Given the description of an element on the screen output the (x, y) to click on. 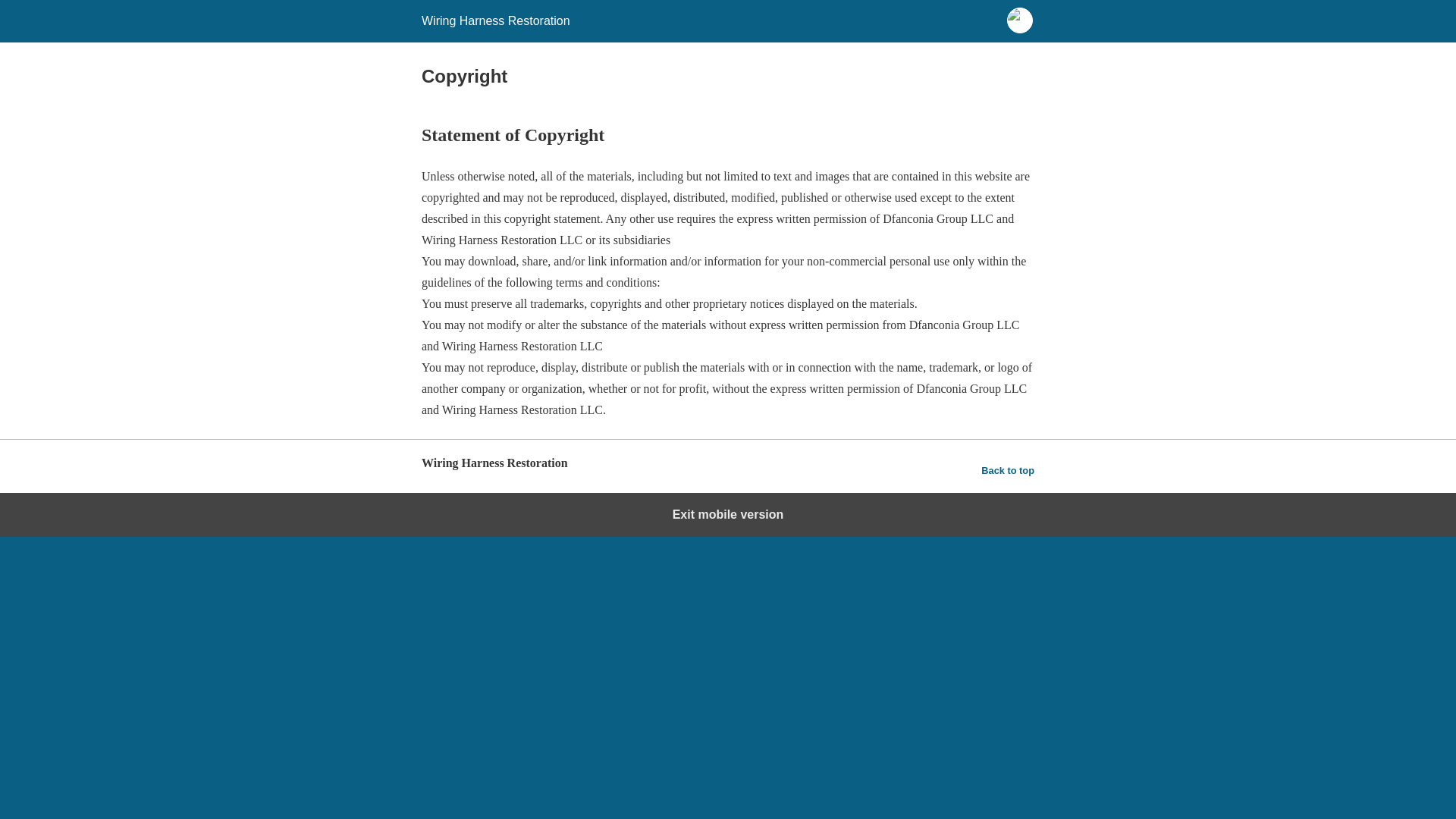
Back to top (1007, 470)
Wiring Harness Restoration (496, 20)
